Given the description of an element on the screen output the (x, y) to click on. 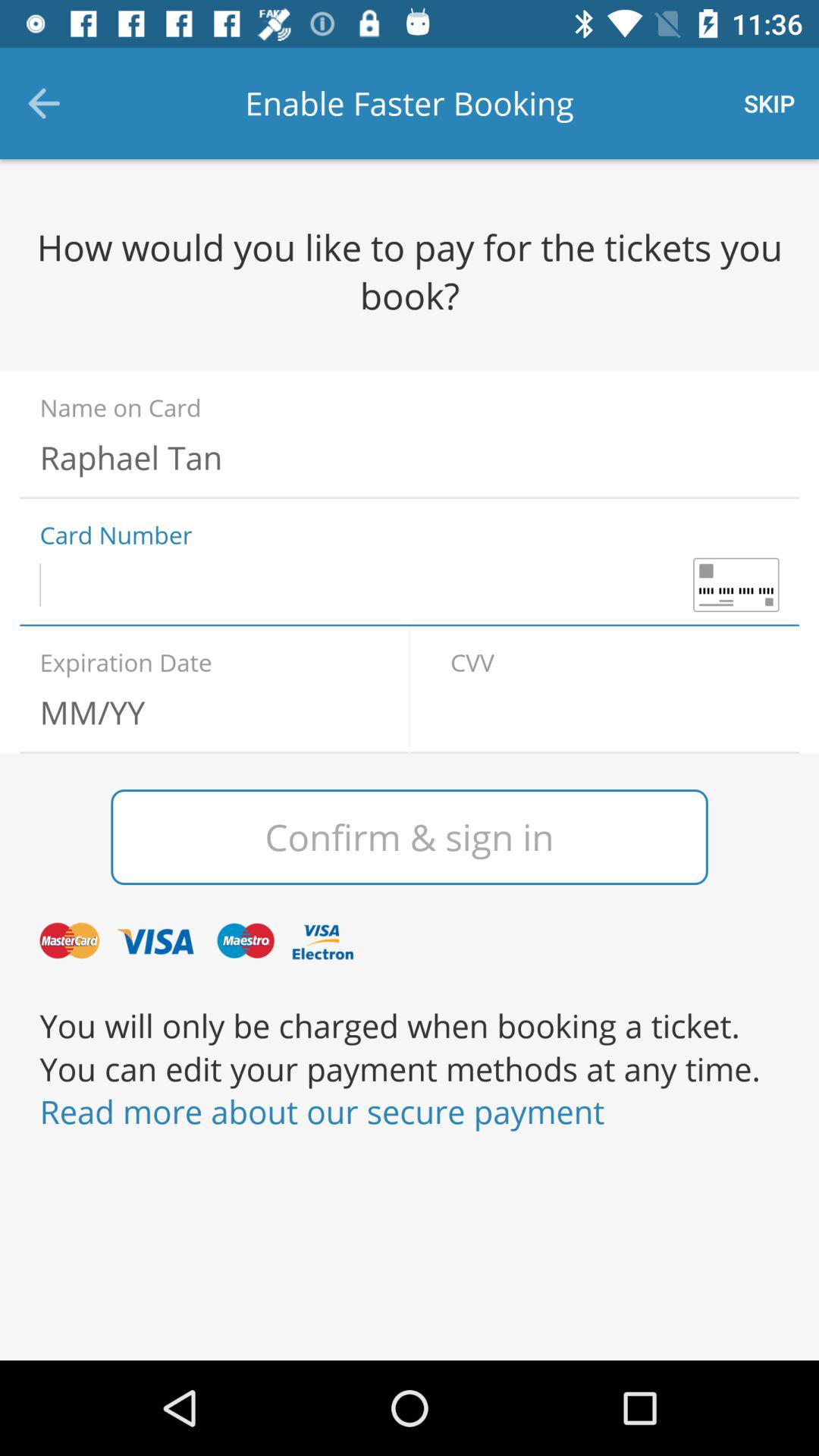
click the button on the bottom line of the web page (409, 1111)
